Given the description of an element on the screen output the (x, y) to click on. 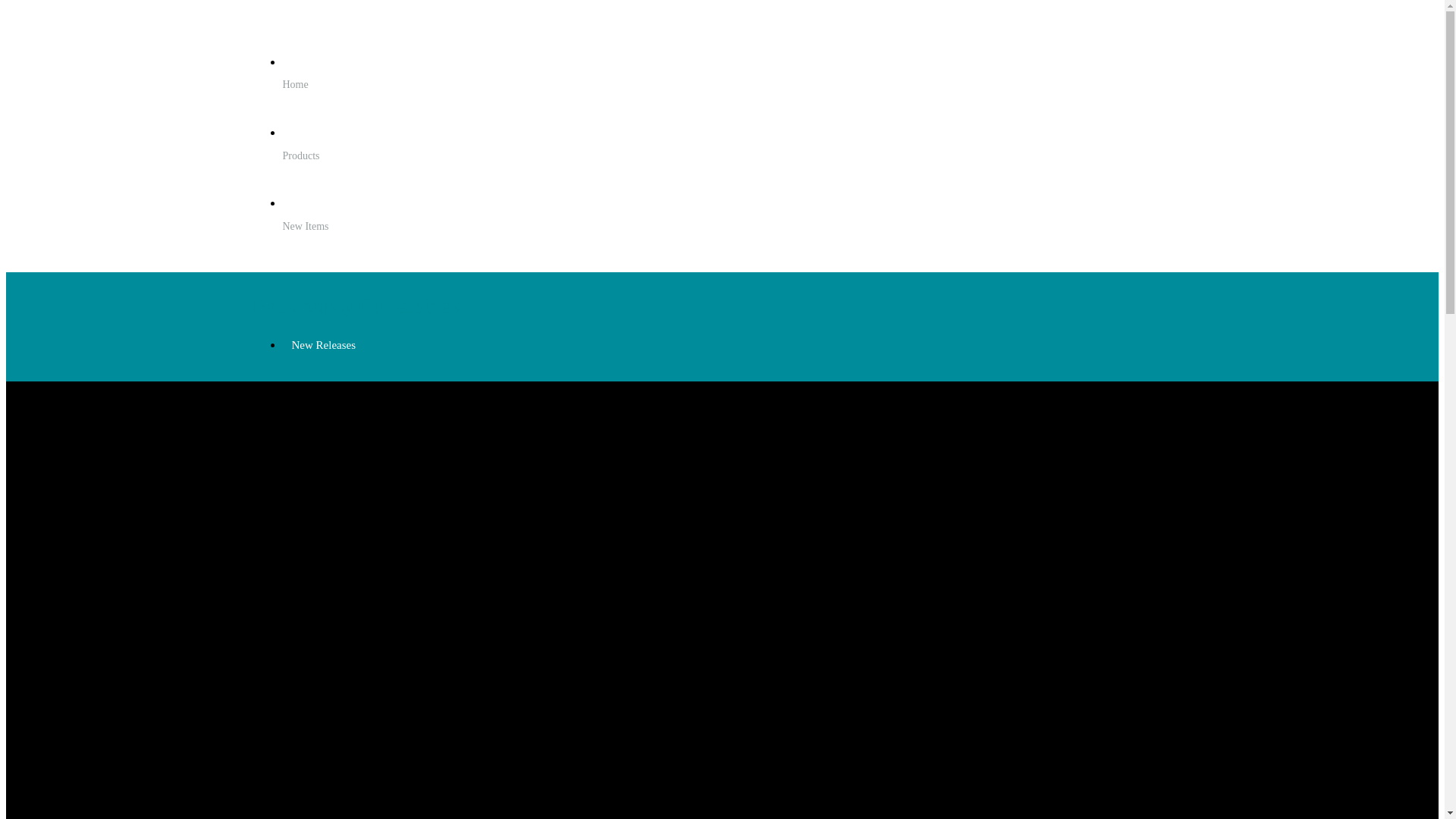
New Releases Element type: text (320, 344)
Home Element type: text (737, 102)
Backmandy Collectibles Element type: text (354, 304)
Products Element type: text (737, 173)
New Items Element type: text (737, 244)
